Given the description of an element on the screen output the (x, y) to click on. 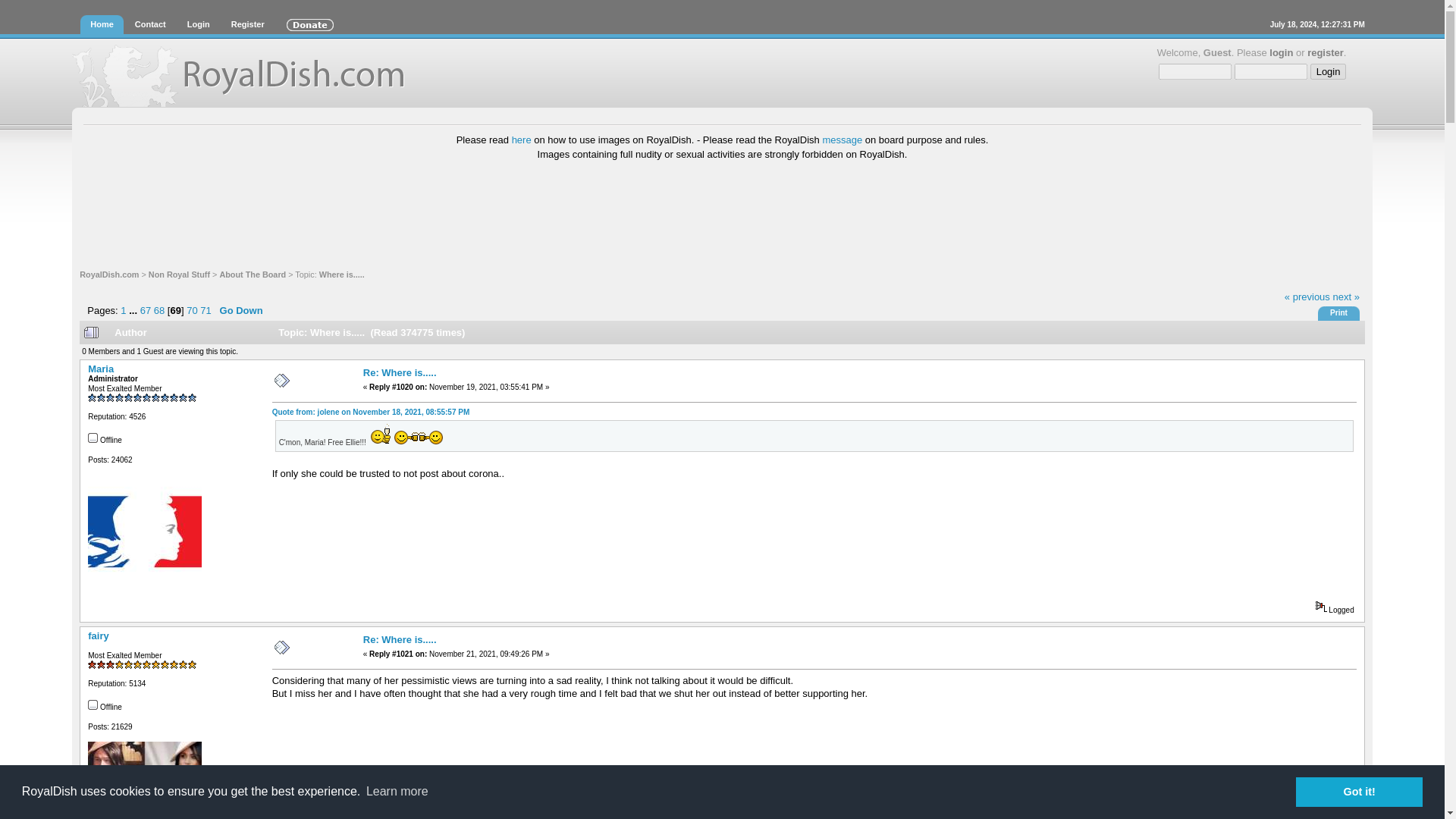
Home (101, 24)
View the profile of fairy (97, 635)
Learn more (397, 791)
RoyalDish.com (109, 274)
register (1325, 52)
message (841, 139)
Maria (100, 368)
fairy (97, 635)
About The Board (252, 274)
Login (198, 24)
Where is..... (341, 274)
Register (248, 24)
Login (1328, 71)
Print (1339, 312)
View the profile of Maria (100, 368)
